Given the description of an element on the screen output the (x, y) to click on. 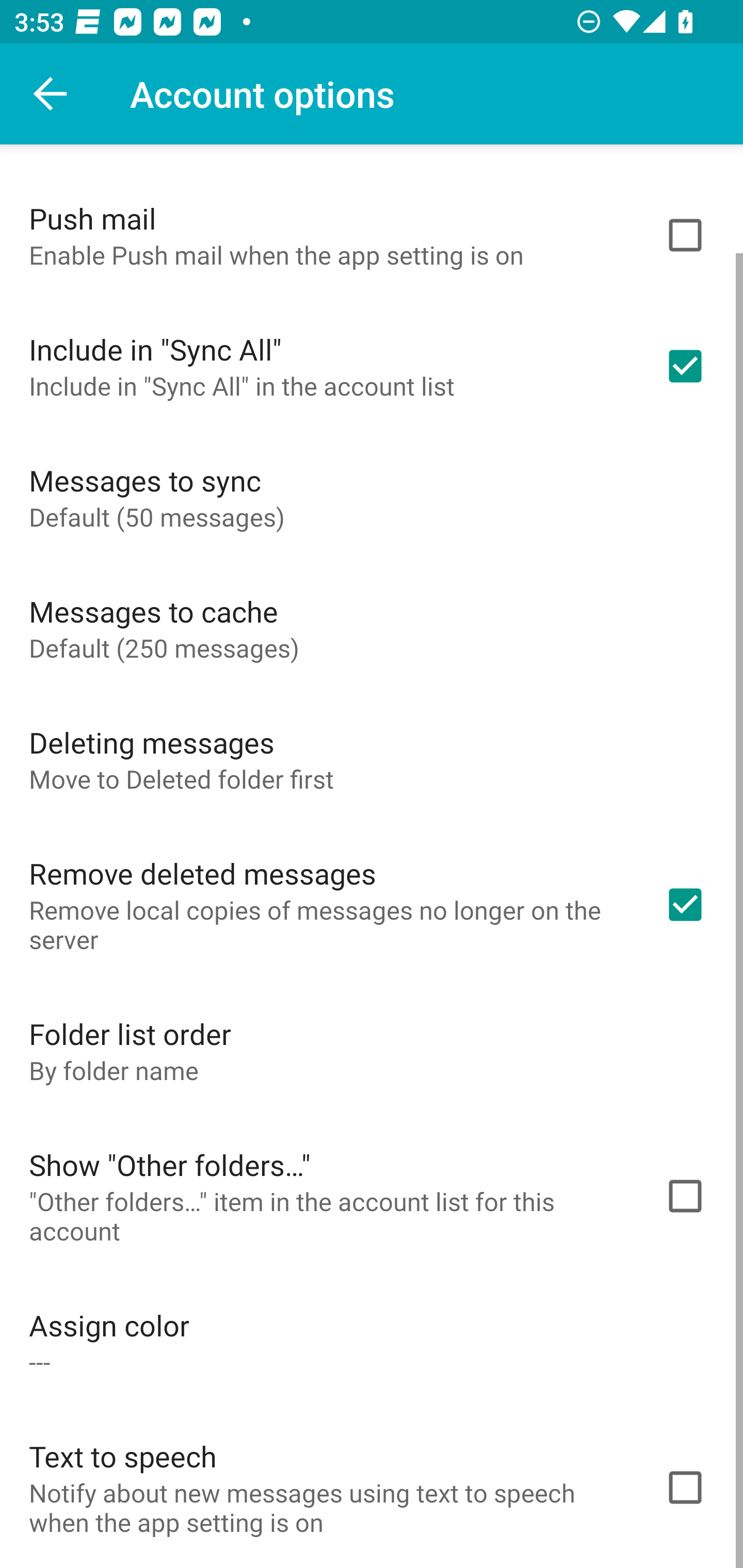
Navigate up (50, 93)
Messages to sync Default (50 messages) (371, 496)
Messages to cache Default (250 messages) (371, 627)
Deleting messages Move to Deleted folder first (371, 758)
Folder list order By folder name (371, 1050)
Assign color --- (371, 1342)
